Given the description of an element on the screen output the (x, y) to click on. 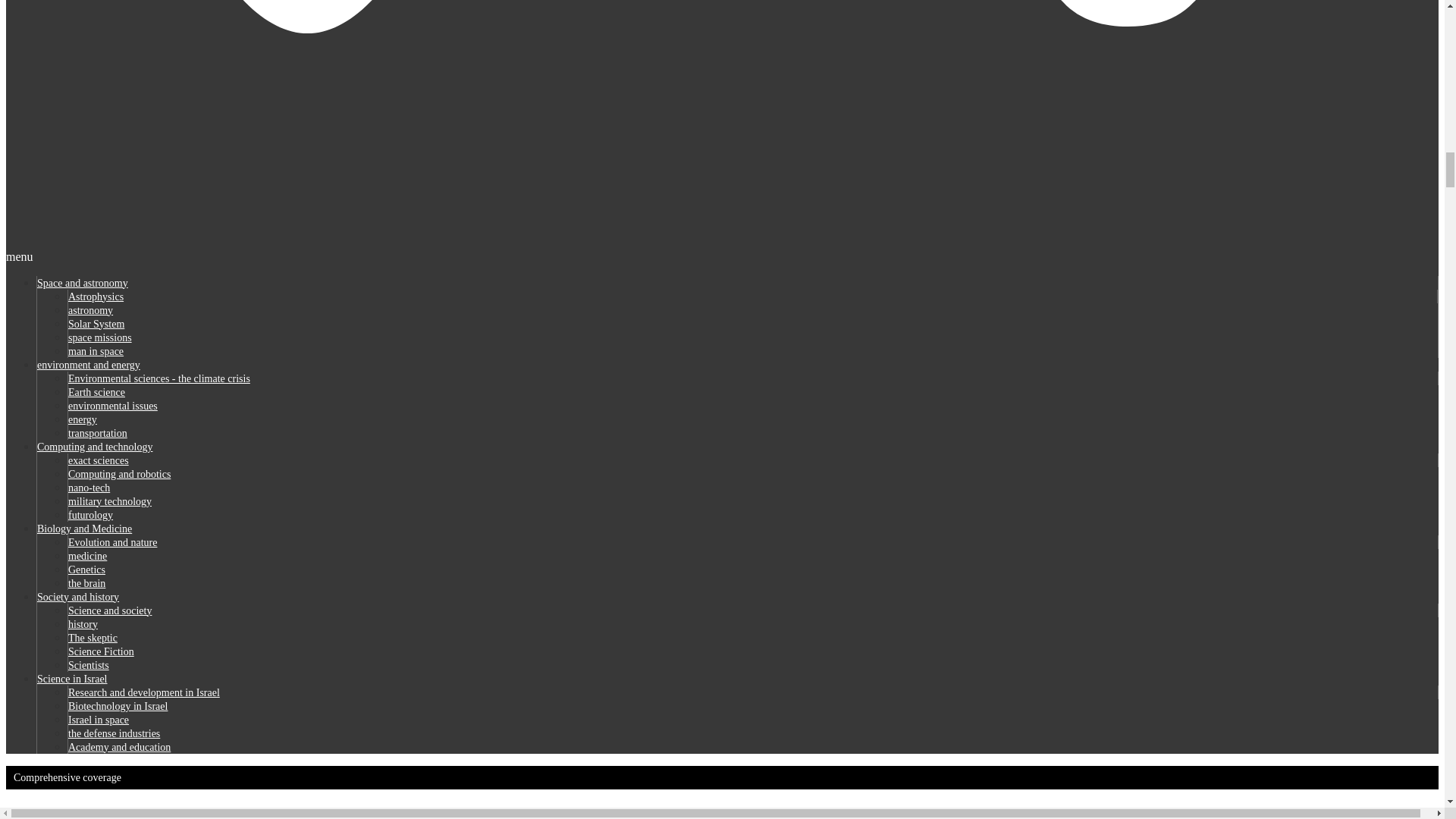
Space and astronomy (82, 283)
Astrophysics (95, 296)
